Given the description of an element on the screen output the (x, y) to click on. 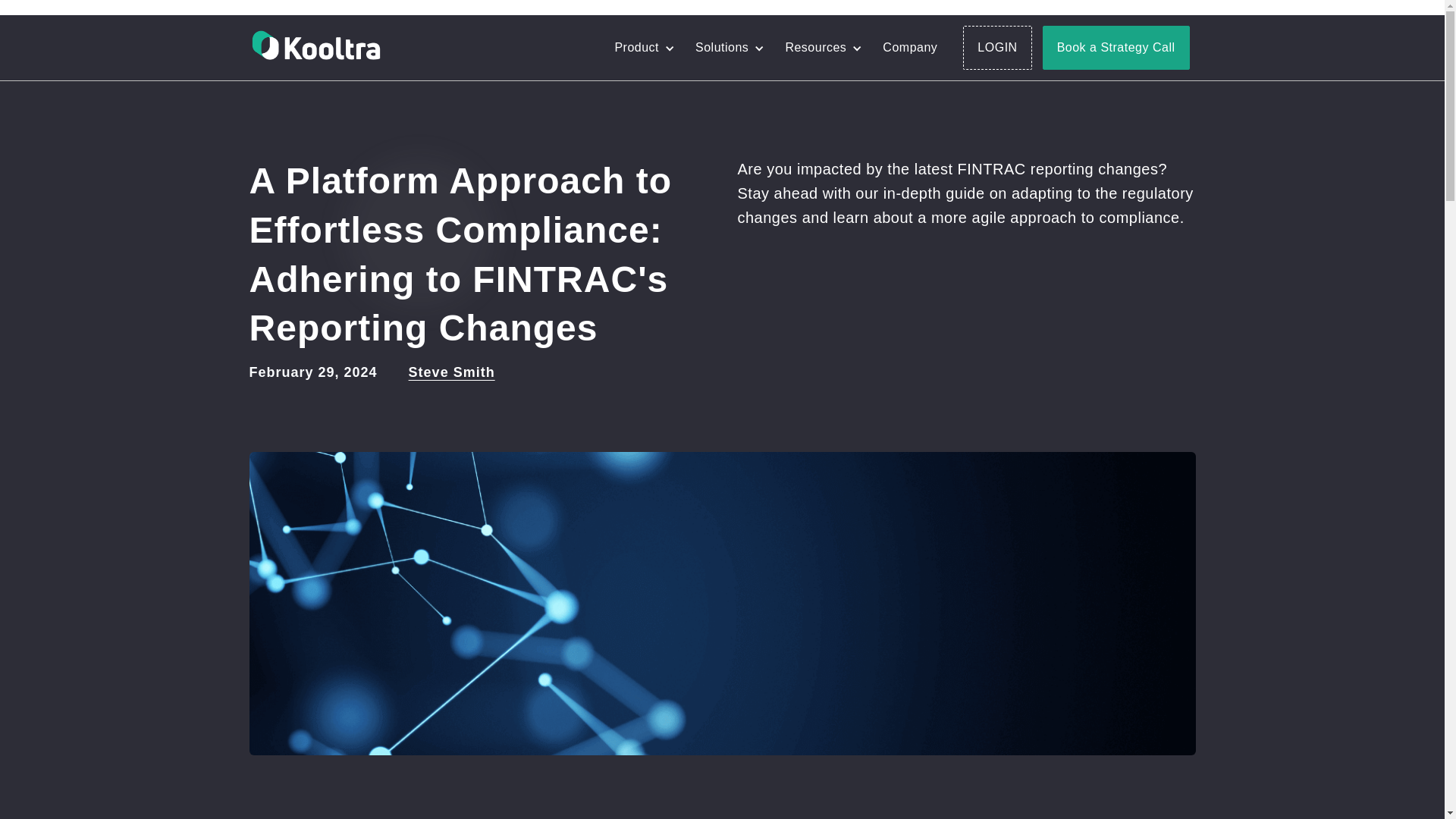
Company (909, 47)
Book a Strategy Call (1115, 47)
LOGIN (996, 47)
Steve Smith (452, 372)
